Given the description of an element on the screen output the (x, y) to click on. 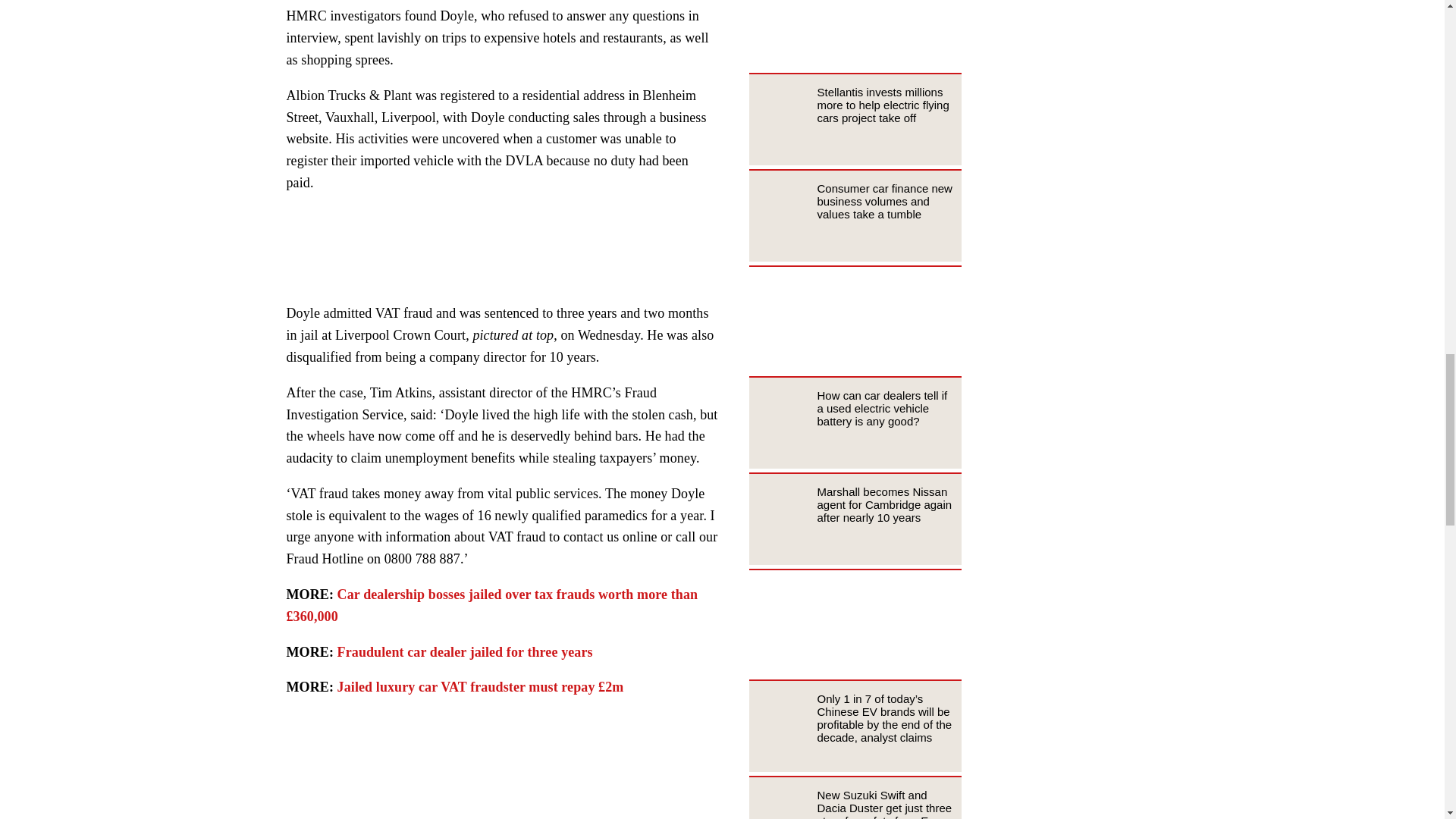
Fraudulent car dealer jailed for three years (464, 652)
